Given the description of an element on the screen output the (x, y) to click on. 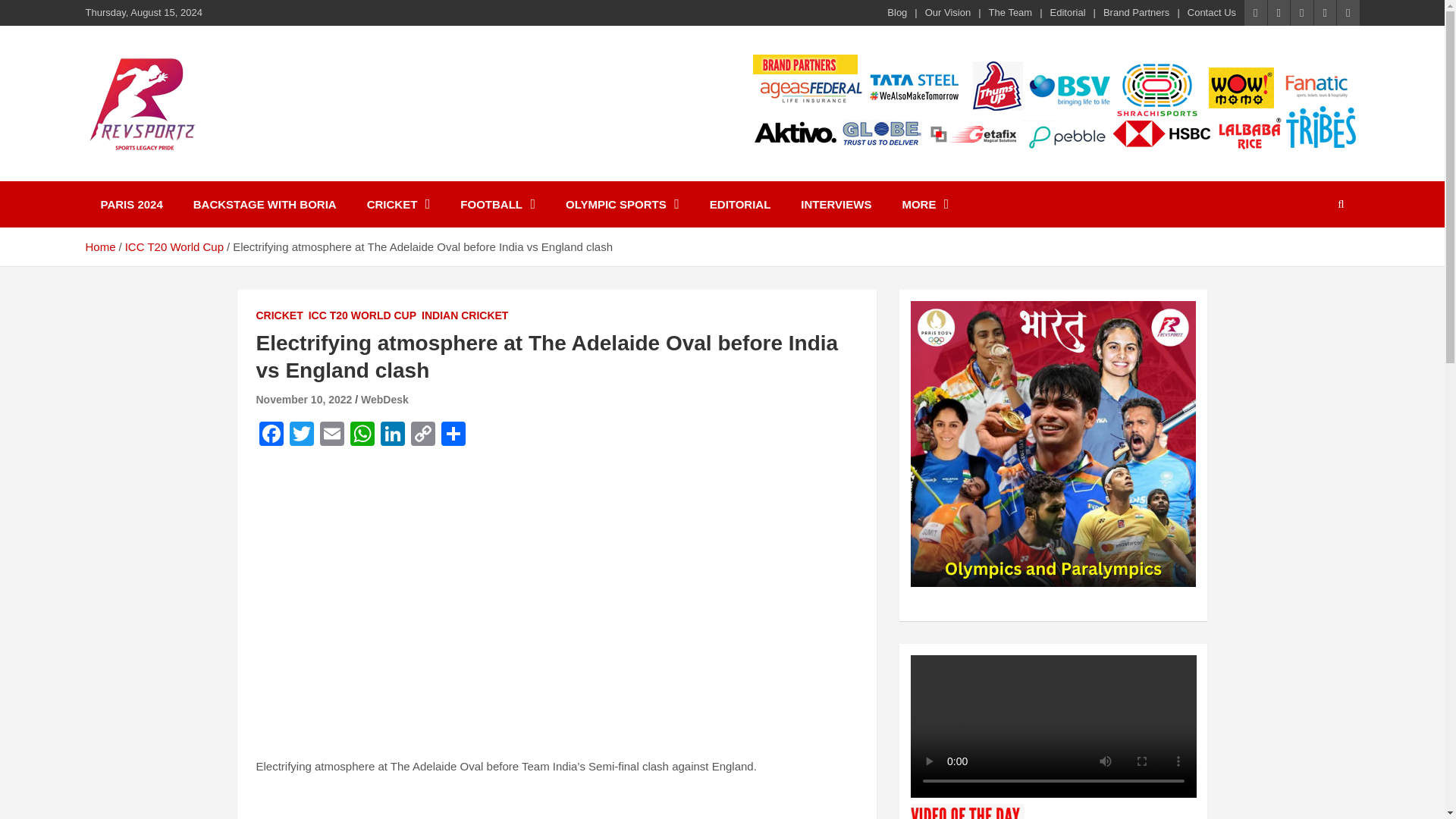
PARIS 2024 (130, 203)
Brand Partners (1136, 12)
Blog (896, 12)
Copy Link (422, 435)
The Team (1010, 12)
Email (332, 435)
LinkedIn (392, 435)
Editorial (1067, 12)
BACKSTAGE WITH BORIA (264, 203)
CRICKET (398, 203)
